Given the description of an element on the screen output the (x, y) to click on. 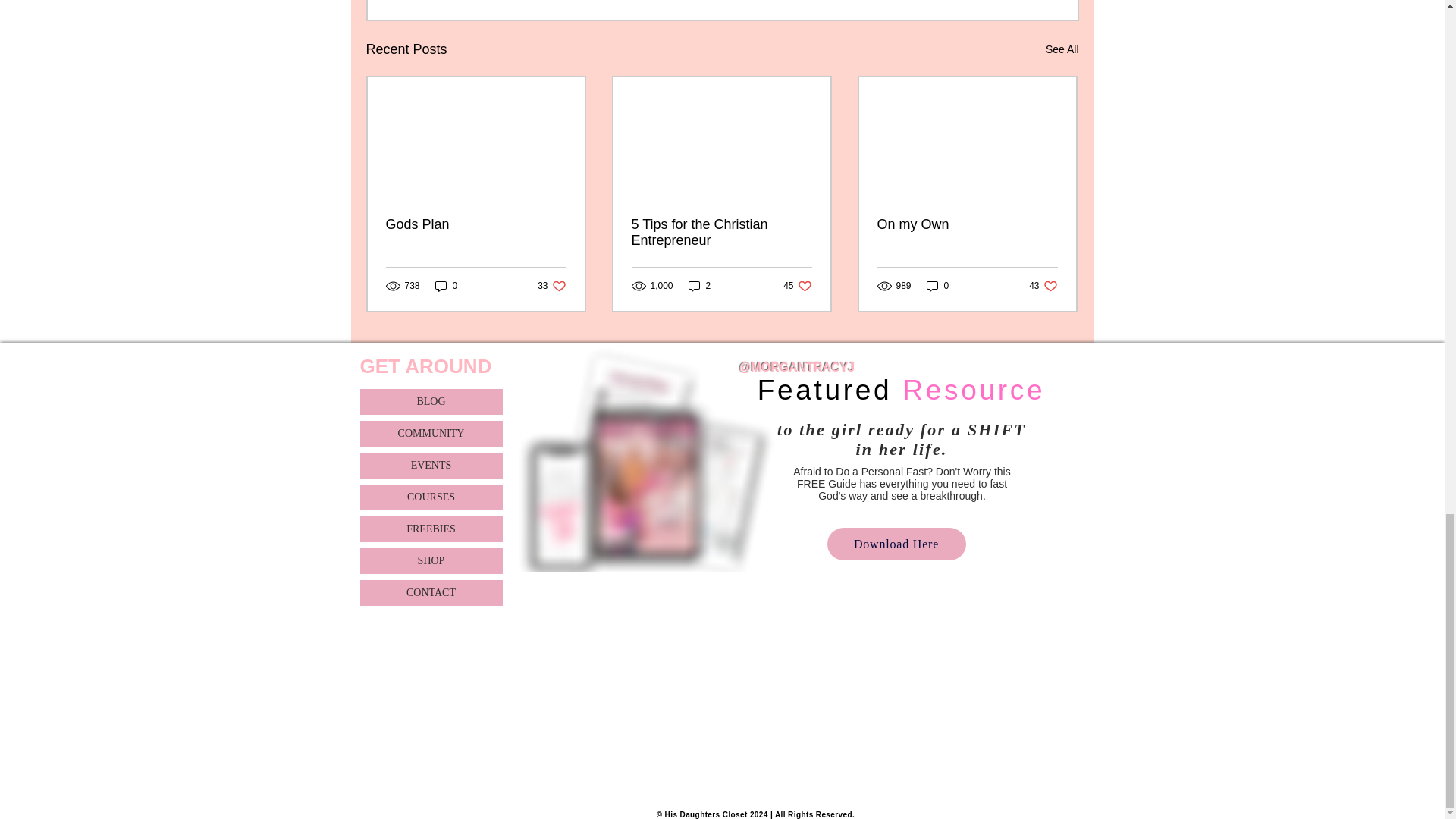
5 Tips for the Christian Entrepreneur (551, 286)
Gods Plan (720, 232)
2 (475, 224)
0 (700, 286)
See All (446, 286)
